Given the description of an element on the screen output the (x, y) to click on. 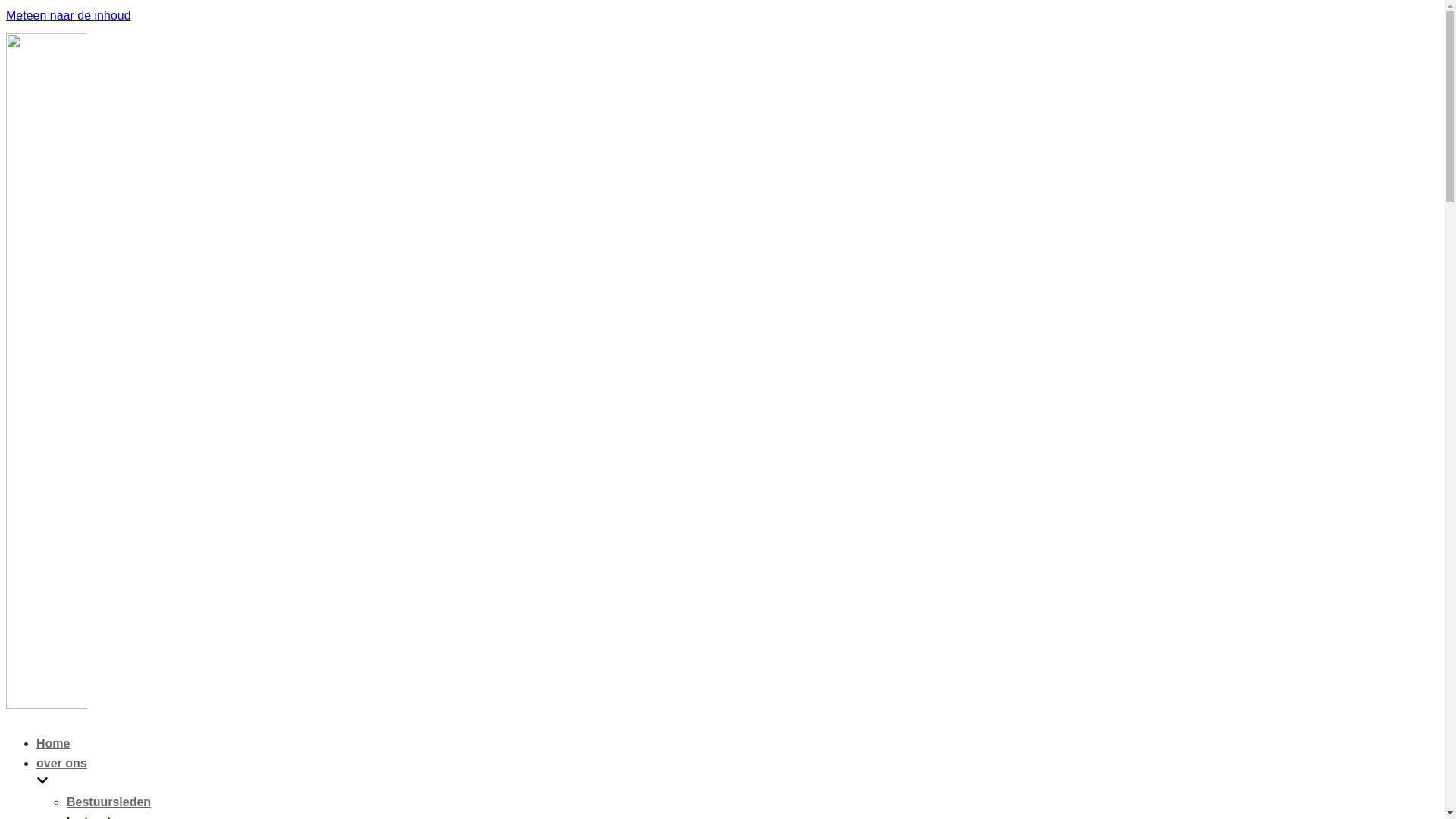
Home Element type: text (52, 743)
Addalton Element type: hover (46, 704)
Meteen naar de inhoud Element type: text (68, 15)
over ons Element type: text (457, 774)
Bestuursleden Element type: text (108, 801)
